Given the description of an element on the screen output the (x, y) to click on. 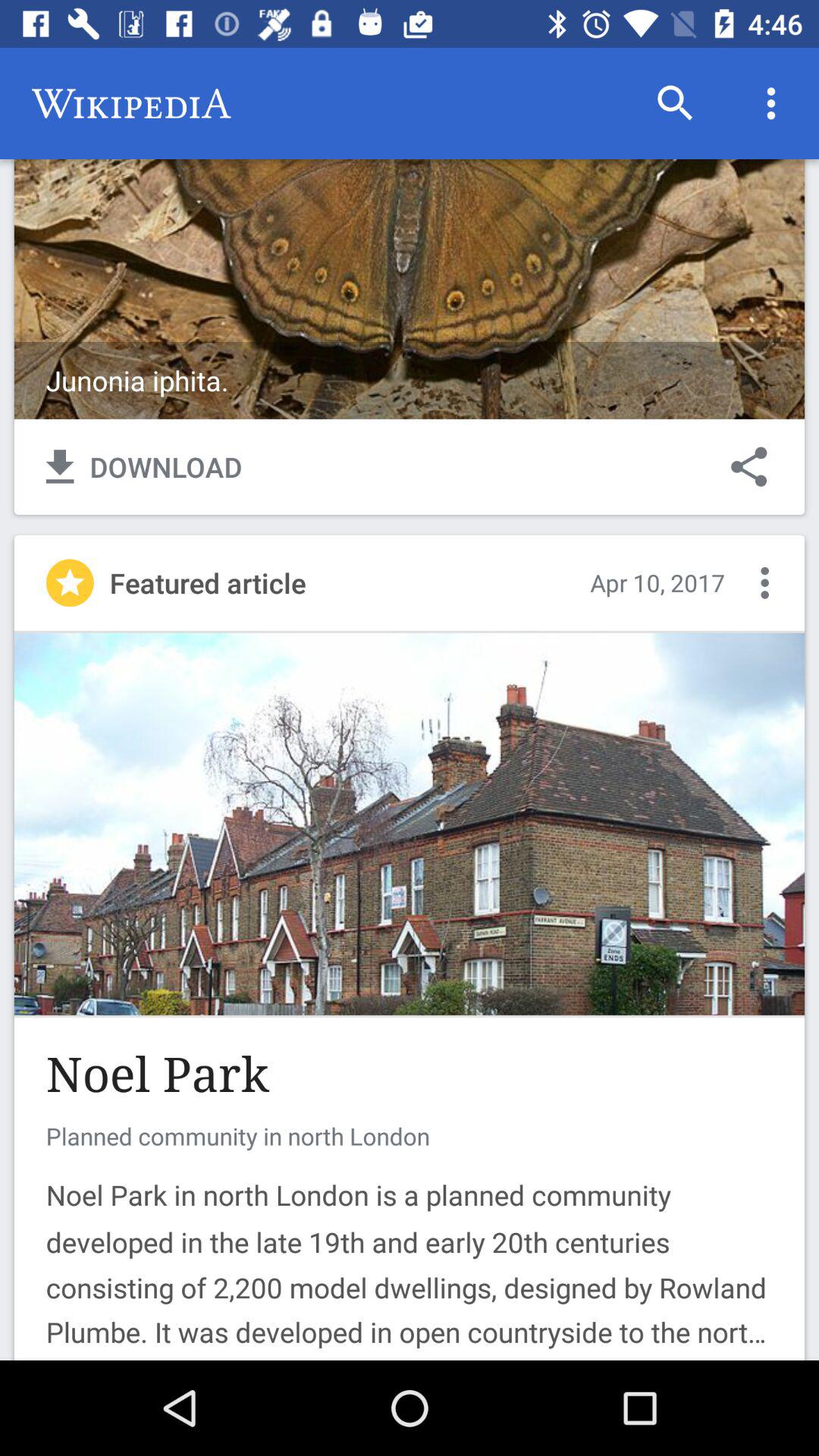
press the icon above the junonia iphita. (675, 103)
